Given the description of an element on the screen output the (x, y) to click on. 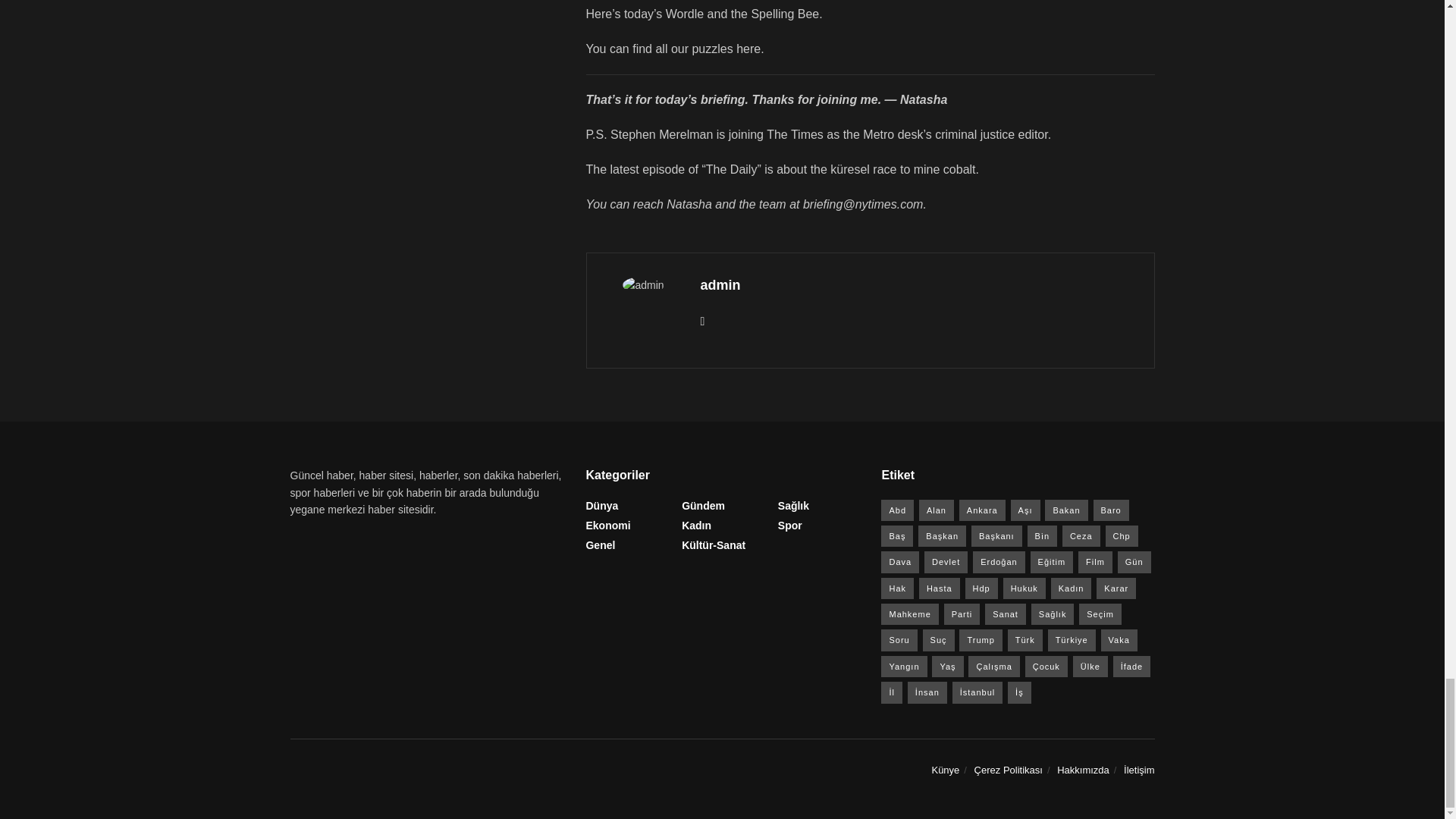
admin (720, 284)
